Given the description of an element on the screen output the (x, y) to click on. 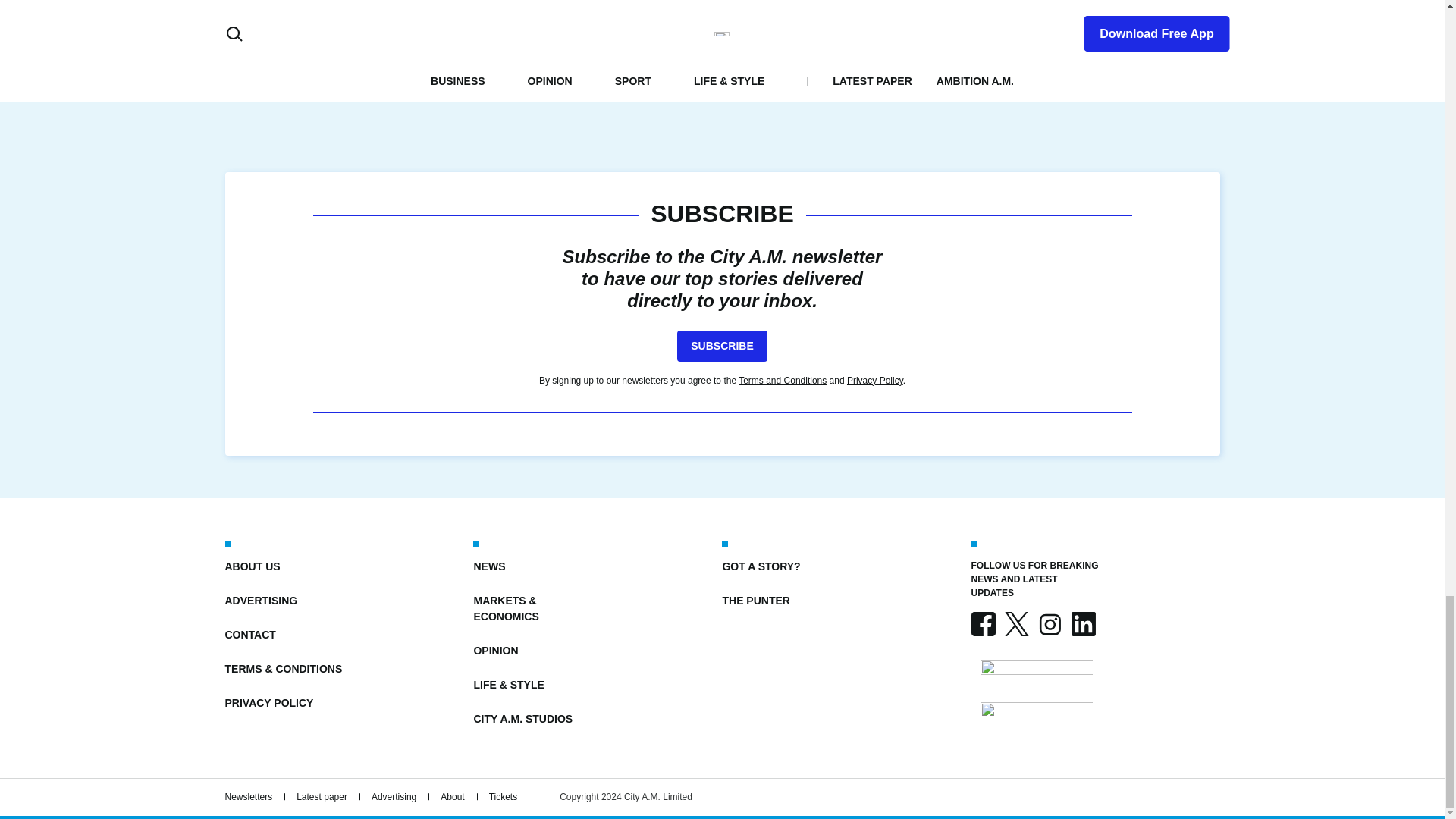
INSTAGRAM (1048, 623)
FACEBOOK (982, 623)
LINKEDIN (1082, 623)
X (1015, 623)
